Given the description of an element on the screen output the (x, y) to click on. 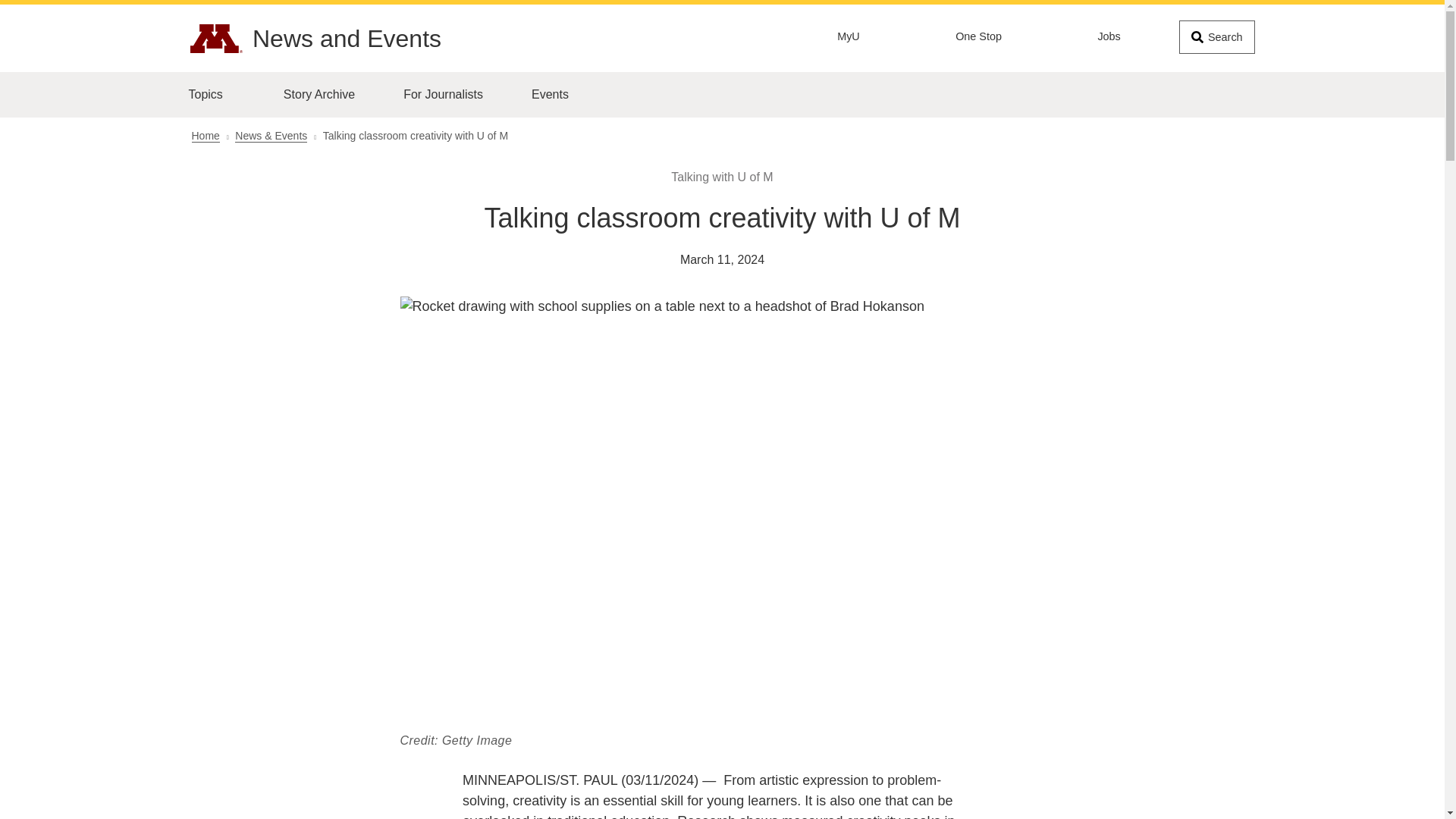
Wordmark of the University of Minnesota Twin Cities (215, 38)
MyU (848, 37)
open and close the search region (1215, 37)
Topics (217, 94)
Wordmark of the University of Minnesota Twin Cities (215, 38)
Events (549, 94)
News and Events (346, 38)
Search (1215, 37)
For Journalists (442, 94)
